Given the description of an element on the screen output the (x, y) to click on. 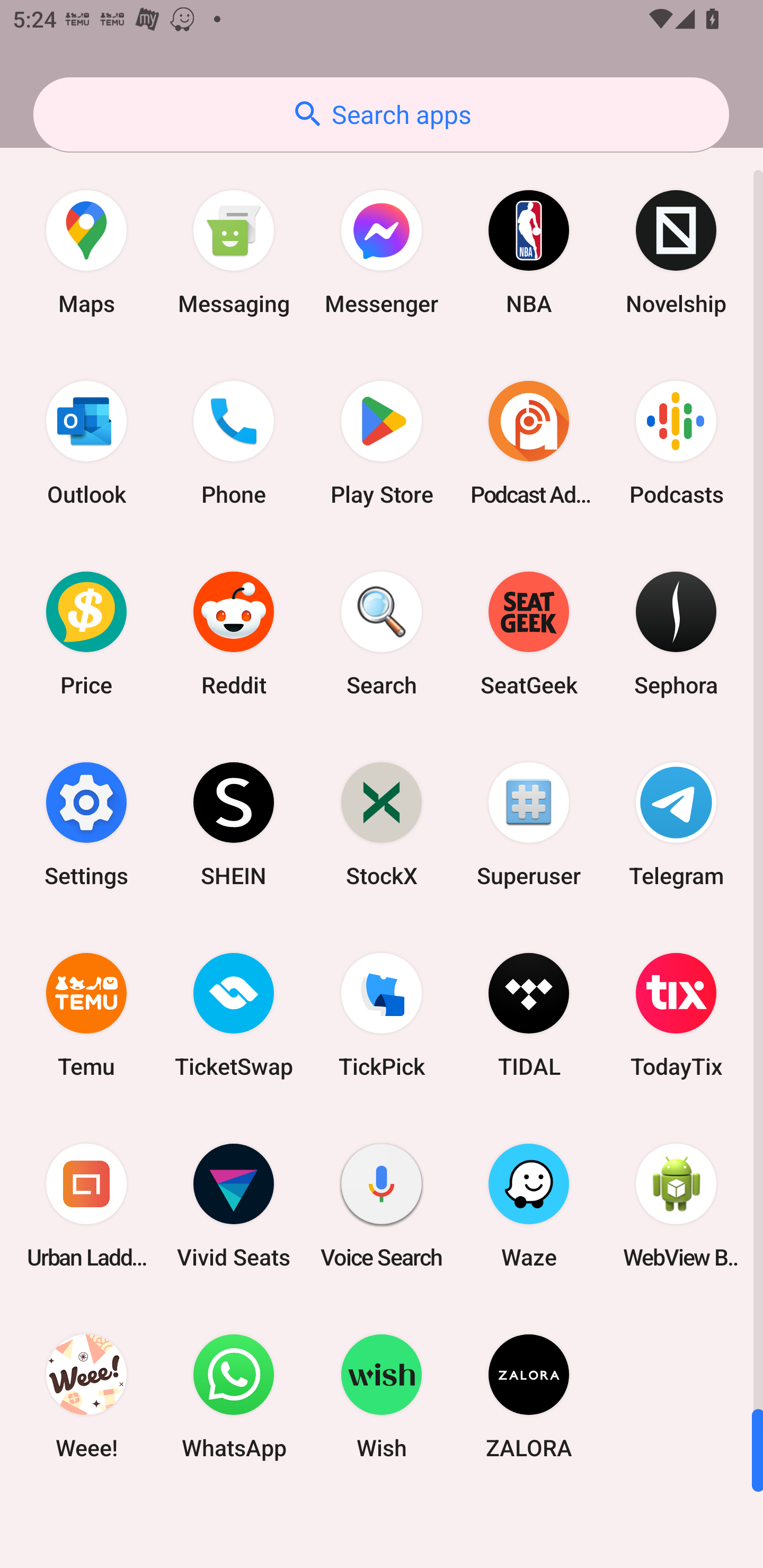
  Search apps (381, 114)
Maps (86, 252)
Messaging (233, 252)
Messenger (381, 252)
NBA (528, 252)
Novelship (676, 252)
Outlook (86, 442)
Phone (233, 442)
Play Store (381, 442)
Podcast Addict (528, 442)
Podcasts (676, 442)
Price (86, 633)
Reddit (233, 633)
Search (381, 633)
SeatGeek (528, 633)
Sephora (676, 633)
Settings (86, 823)
SHEIN (233, 823)
StockX (381, 823)
Superuser (528, 823)
Telegram (676, 823)
Temu (86, 1014)
TicketSwap (233, 1014)
TickPick (381, 1014)
TIDAL (528, 1014)
TodayTix (676, 1014)
Urban Ladder (86, 1205)
Vivid Seats (233, 1205)
Voice Search (381, 1205)
Waze (528, 1205)
WebView Browser Tester (676, 1205)
Weee! (86, 1396)
WhatsApp (233, 1396)
Wish (381, 1396)
ZALORA (528, 1396)
